Given the description of an element on the screen output the (x, y) to click on. 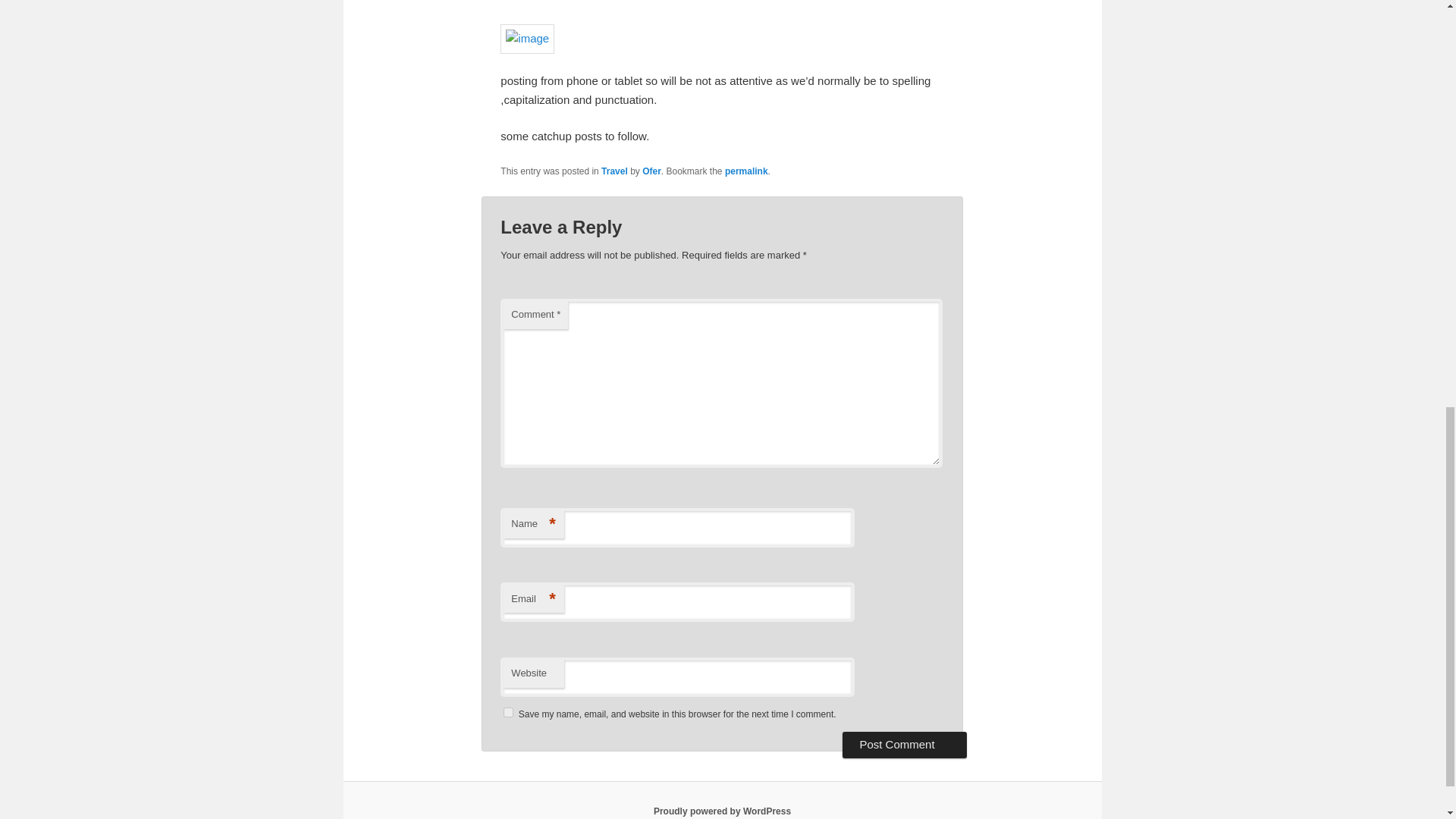
Semantic Personal Publishing Platform (721, 810)
permalink (746, 171)
Travel (614, 171)
Proudly powered by WordPress (721, 810)
2013-01-12 19.05.08.jpg (527, 38)
yes (508, 712)
Post Comment (904, 744)
Post Comment (904, 744)
Permalink to Tip of africa (746, 171)
Ofer (651, 171)
